Given the description of an element on the screen output the (x, y) to click on. 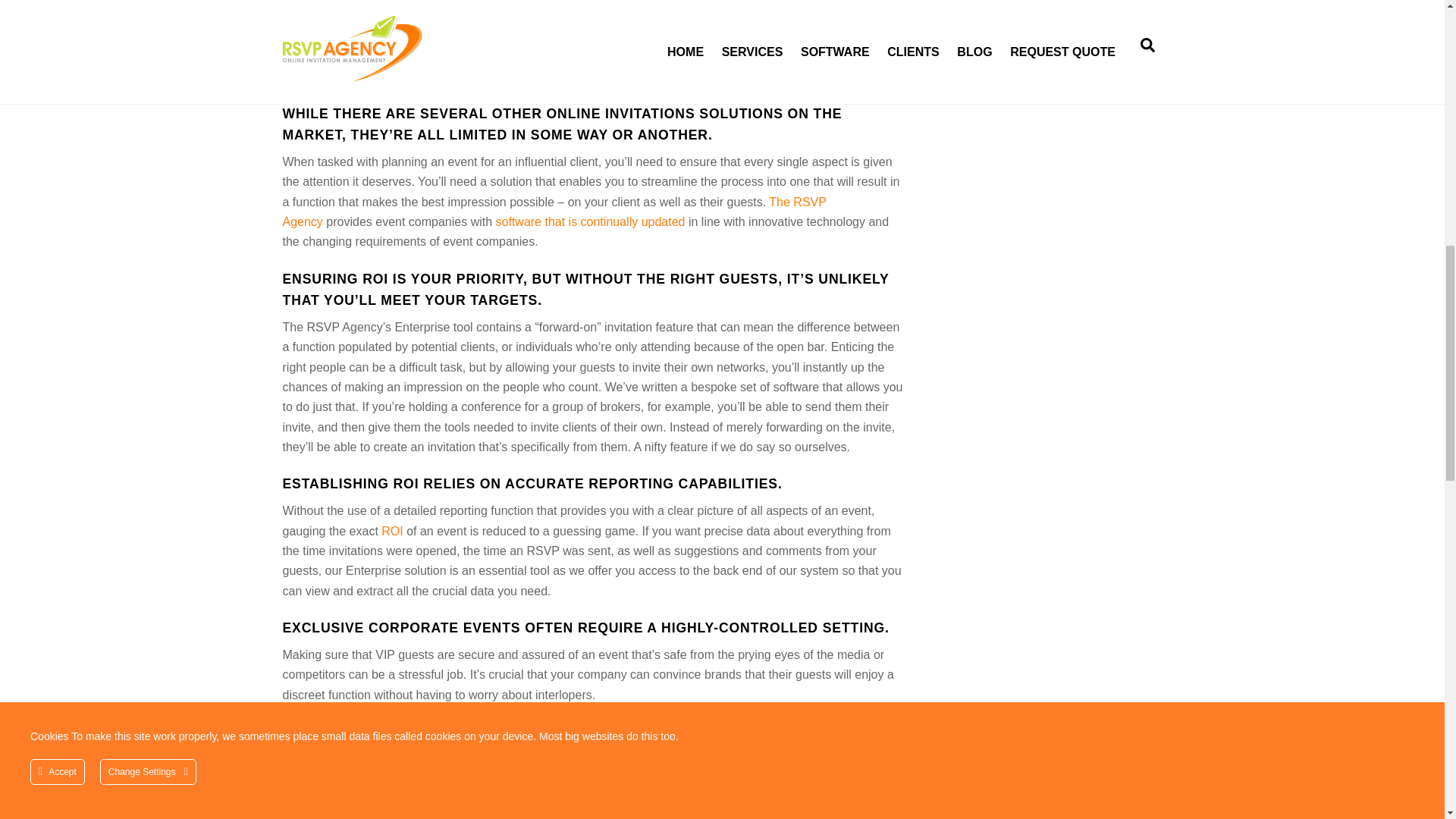
software that is continually updated (590, 221)
ROI (392, 530)
The RSVP Agency (553, 211)
registration process (740, 56)
